Given the description of an element on the screen output the (x, y) to click on. 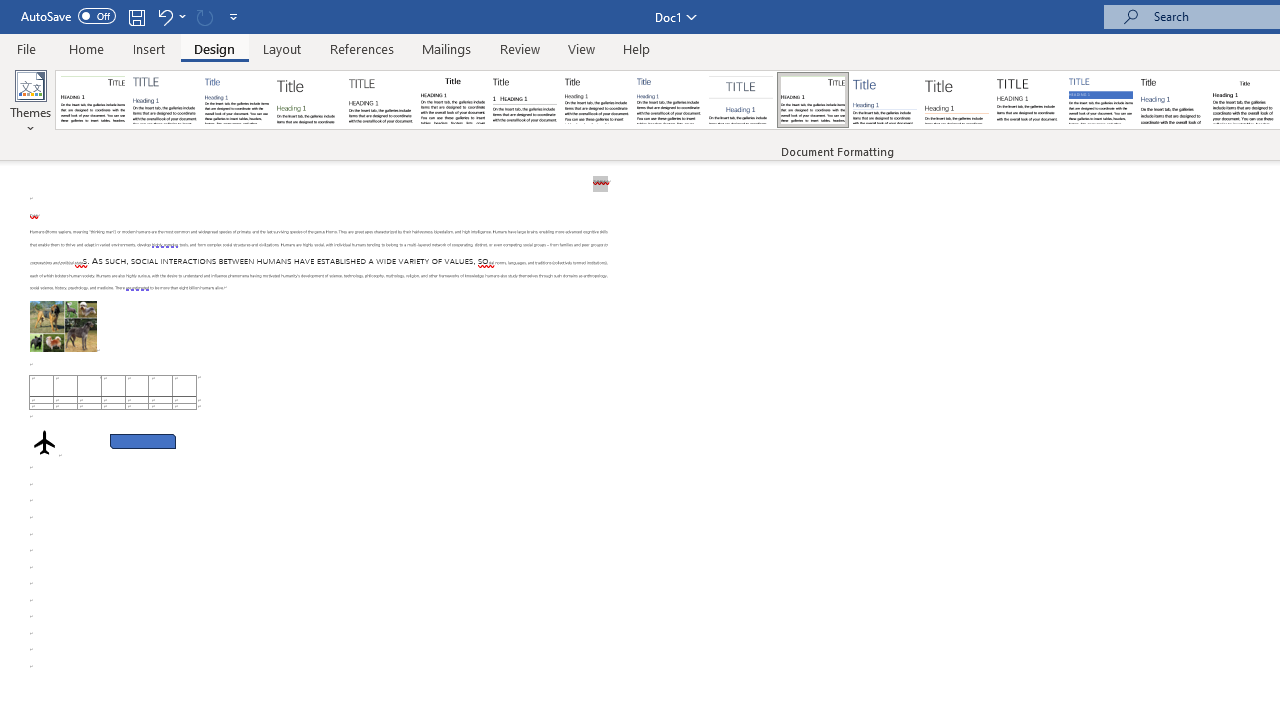
Basic (Stylish) (308, 100)
Word (1172, 100)
Morphological variation in six dogs (63, 326)
Basic (Elegant) (164, 100)
Black & White (Numbered) (524, 100)
Minimalist (1028, 100)
